Given the description of an element on the screen output the (x, y) to click on. 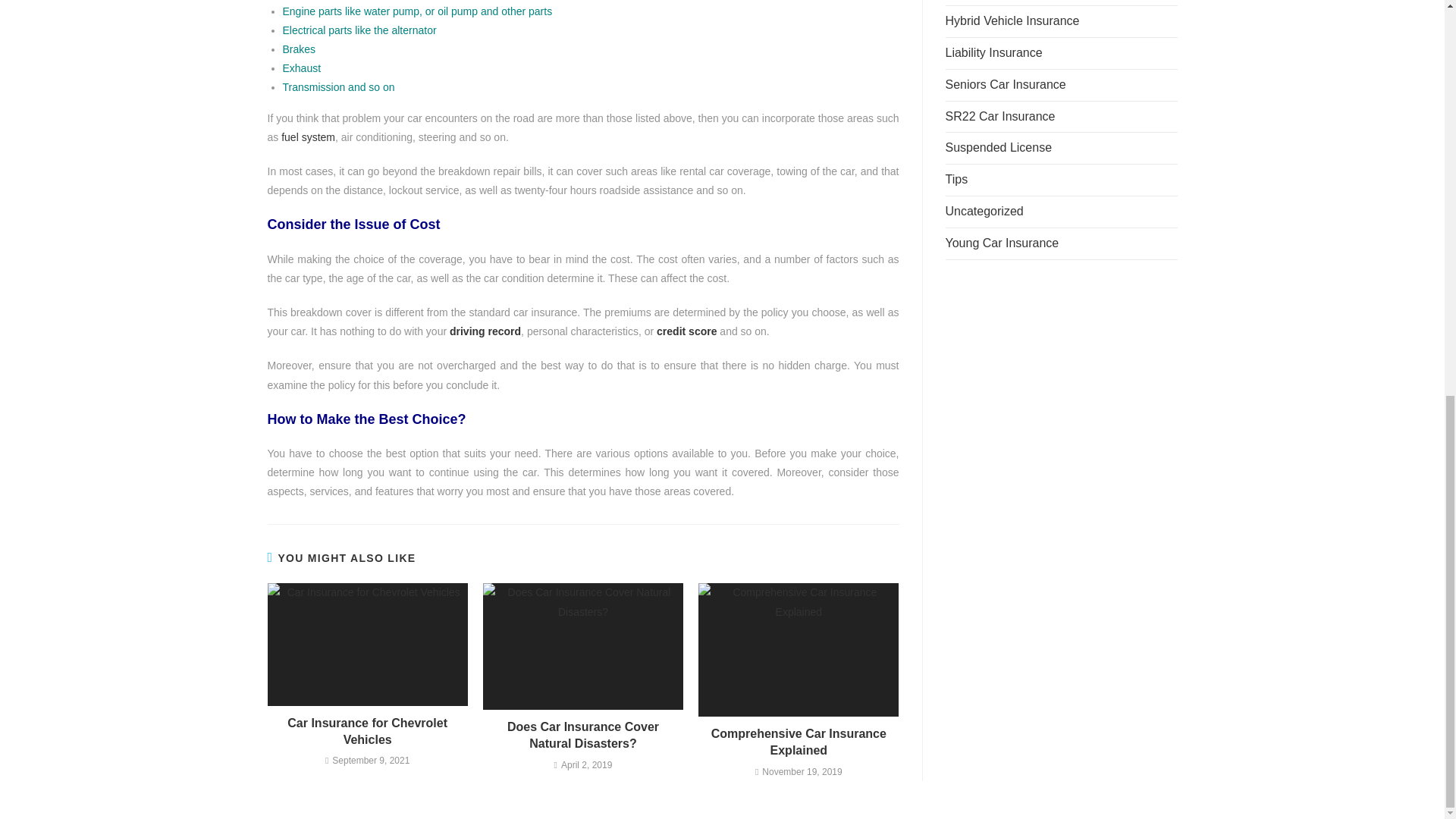
SR22 Car Insurance (999, 115)
Comprehensive Car Insurance Explained (798, 742)
Suspended License (997, 146)
Young Car Insurance (1001, 242)
fuel system (307, 137)
Uncategorized (983, 210)
Car Insurance for Chevrolet Vehicles (367, 731)
Comprehensive Car Insurance Explained (798, 742)
driving record (485, 331)
Liability Insurance (993, 51)
Hybrid Vehicle Insurance (1011, 20)
Does Car Insurance Cover Natural Disasters? (583, 735)
Seniors Car Insurance (1004, 83)
Tips (956, 178)
credit score (686, 331)
